Given the description of an element on the screen output the (x, y) to click on. 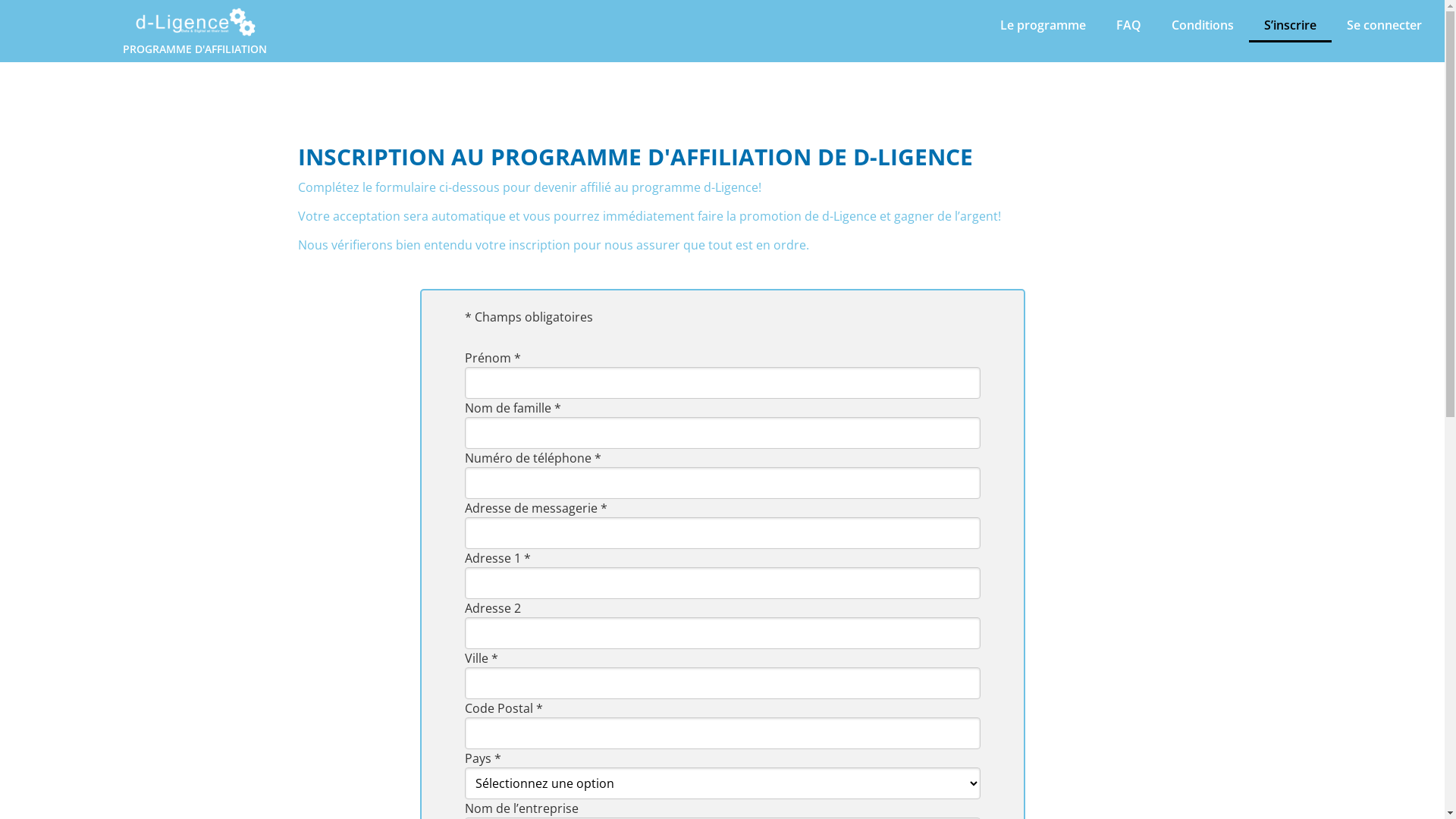
Conditions Element type: text (1202, 24)
Se connecter Element type: text (1384, 24)
Le programme Element type: text (1043, 24)
FAQ Element type: text (1128, 24)
